Given the description of an element on the screen output the (x, y) to click on. 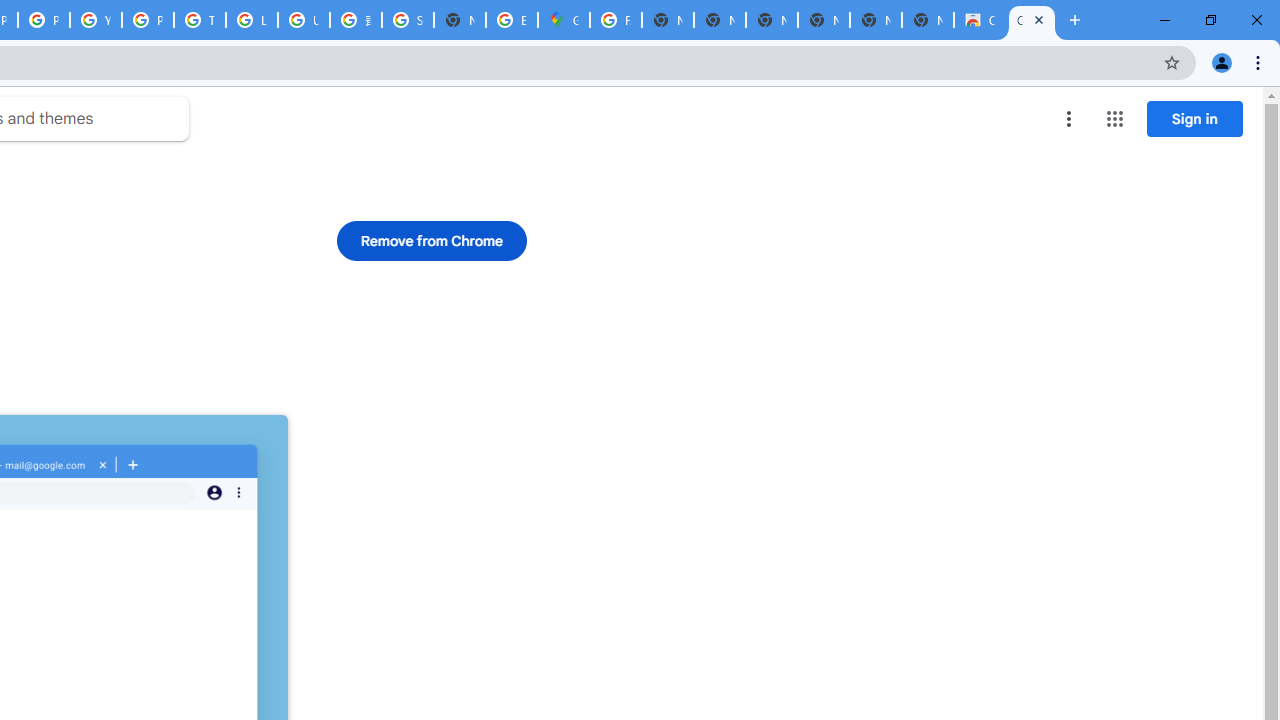
Tips & tricks for Chrome - Google Chrome Help (200, 20)
Explore new street-level details - Google Maps Help (511, 20)
Google Maps (563, 20)
